Given the description of an element on the screen output the (x, y) to click on. 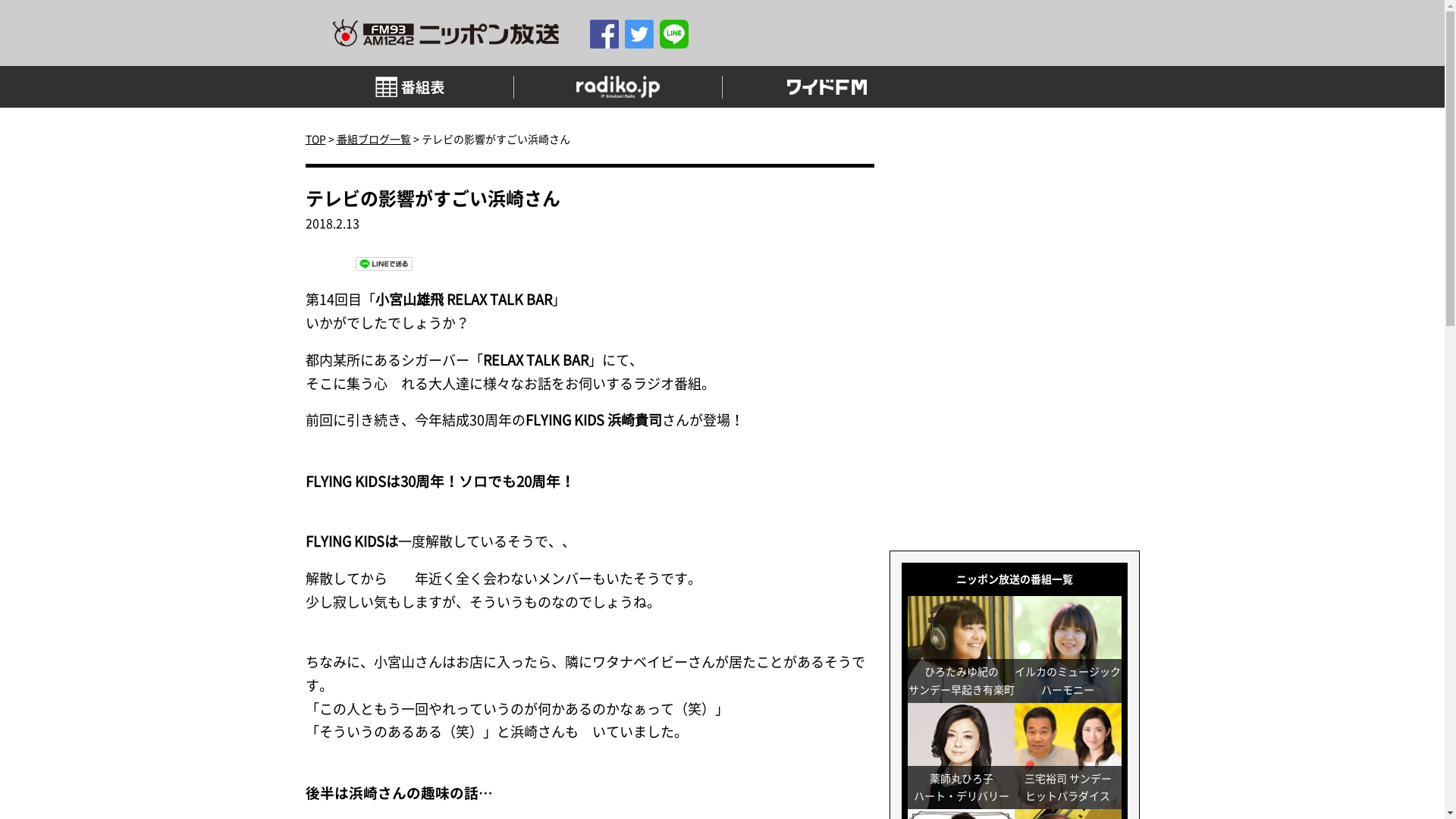
Tweet Element type: text (330, 256)
1242.com/ Element type: text (445, 33)
radiko Element type: text (618, 86)
Advertisement Element type: hover (1014, 435)
Advertisement Element type: hover (1014, 240)
TOP Element type: text (314, 138)
